Given the description of an element on the screen output the (x, y) to click on. 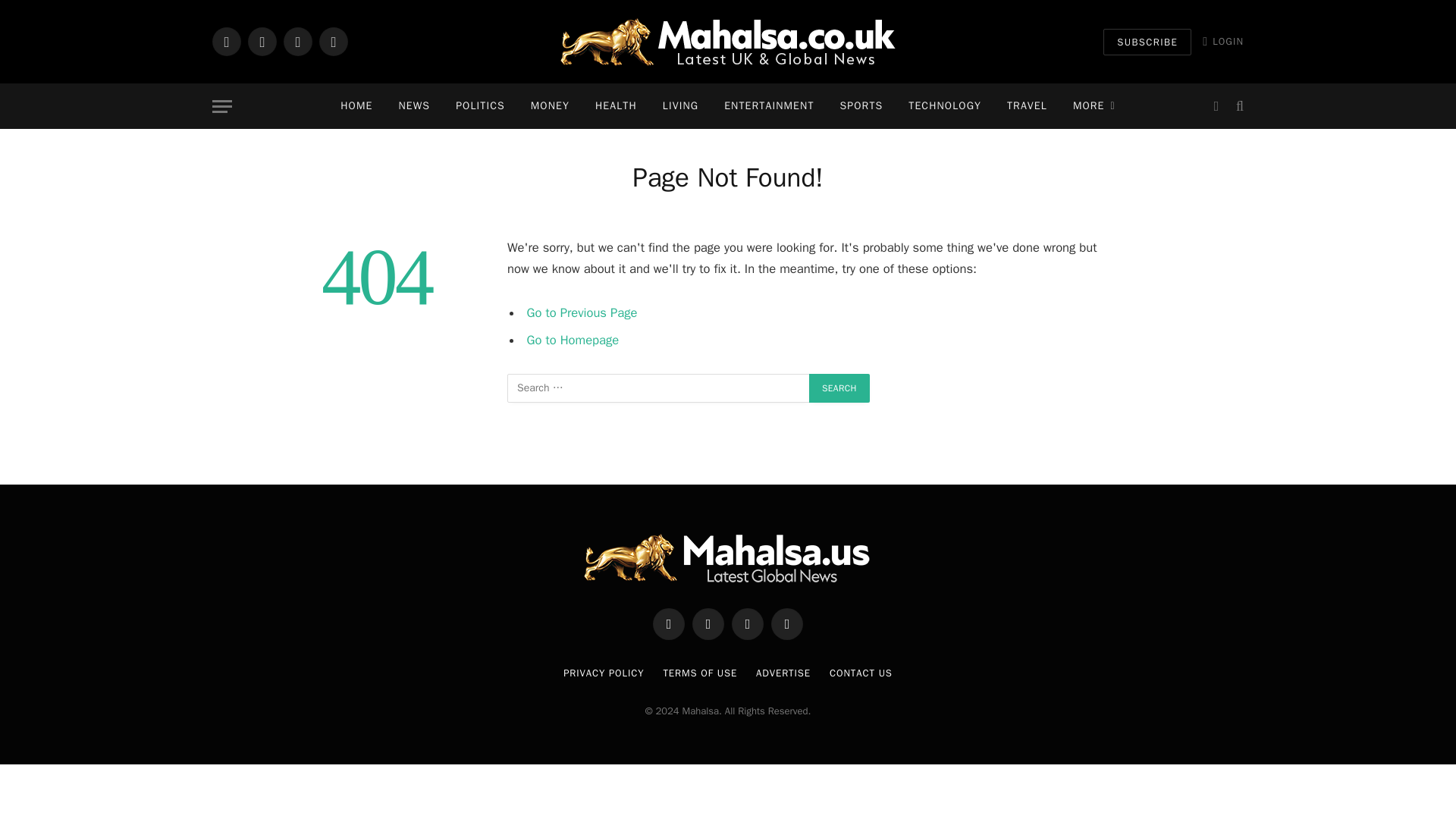
SUBSCRIBE (1147, 41)
POLITICS (480, 105)
Mahalsa UK (727, 41)
Search (839, 387)
Switch to Dark Design - easier on eyes. (1216, 106)
Facebook (226, 41)
MONEY (550, 105)
Vimeo (332, 41)
NEWS (413, 105)
Search (839, 387)
LOGIN (1222, 41)
HOME (356, 105)
HEALTH (615, 105)
Instagram (298, 41)
